Given the description of an element on the screen output the (x, y) to click on. 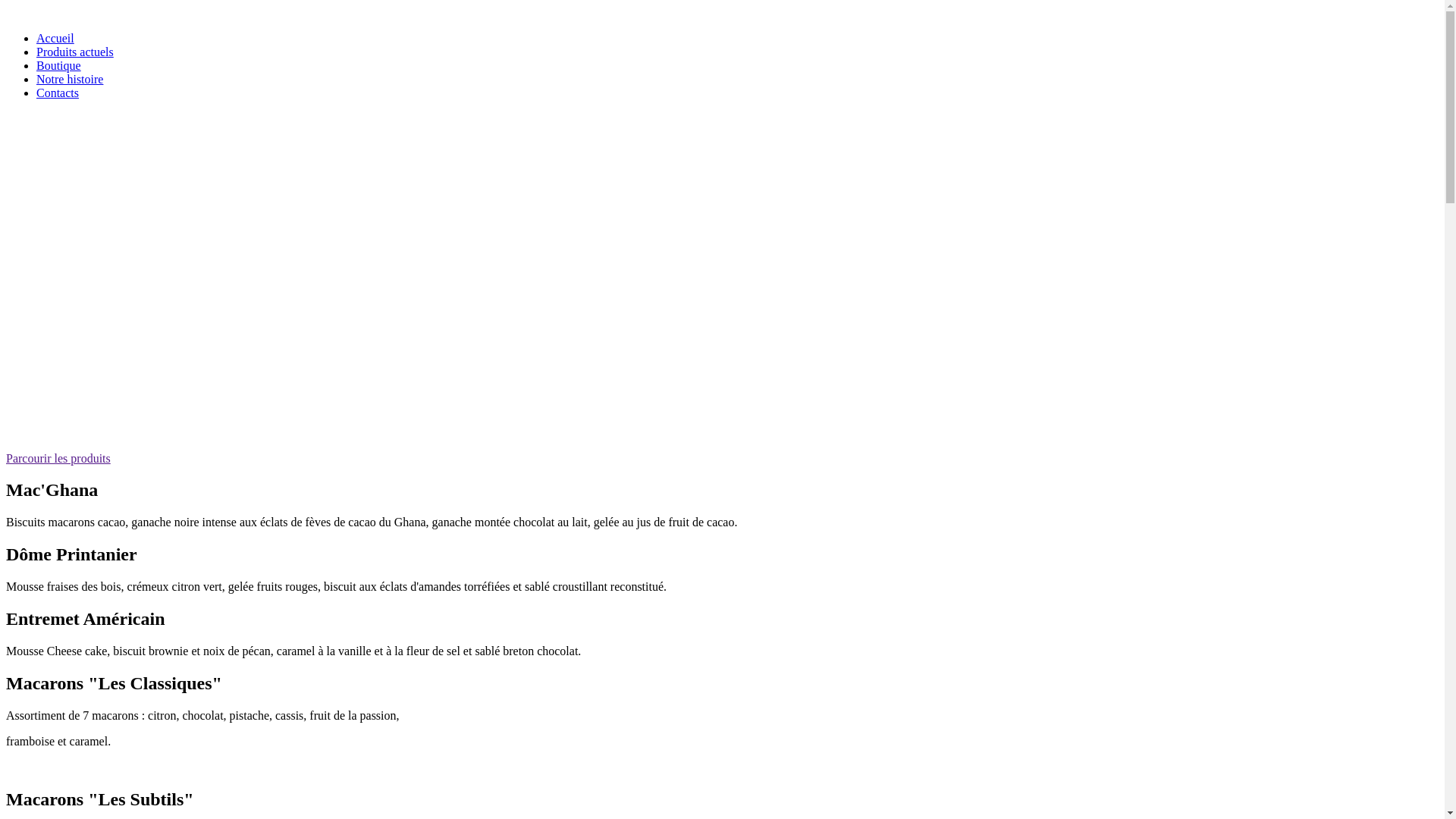
Boutique Element type: text (58, 65)
Produits actuels Element type: text (74, 51)
Contacts Element type: text (57, 92)
Notre histoire Element type: text (69, 78)
Parcourir les produits Element type: text (58, 457)
Accueil Element type: text (55, 37)
